Given the description of an element on the screen output the (x, y) to click on. 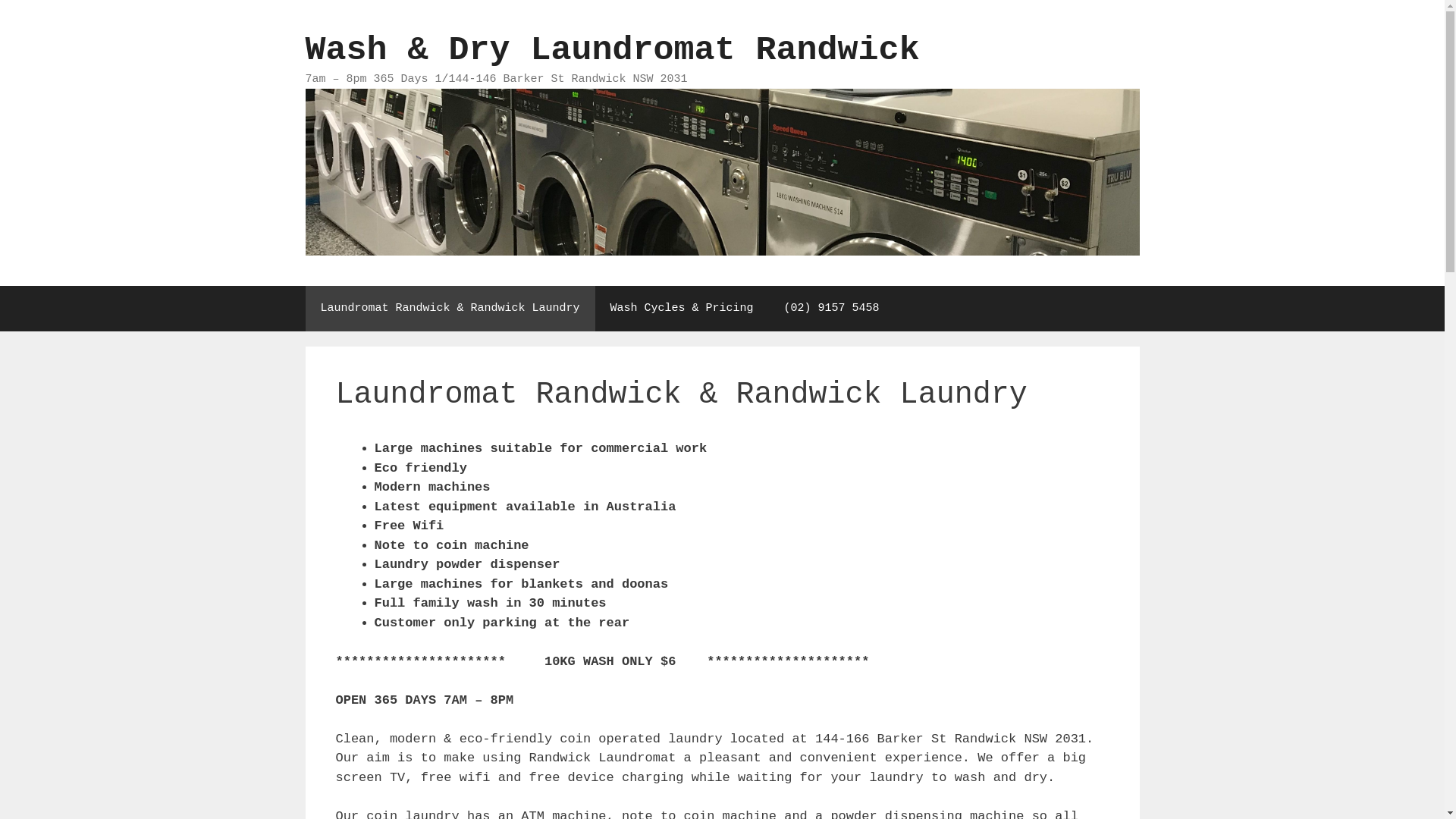
Wash & Dry Laundromat Randwick Element type: text (611, 50)
Wash Cycles & Pricing Element type: text (681, 308)
Wash & Dry Laundromat Randwick Element type: hover (721, 171)
Laundromat Randwick & Randwick Laundry Element type: text (449, 308)
(02) 9157 5458 Element type: text (831, 308)
Skip to content Element type: text (0, 0)
Wash & Dry Laundromat Randwick Element type: hover (721, 171)
